Given the description of an element on the screen output the (x, y) to click on. 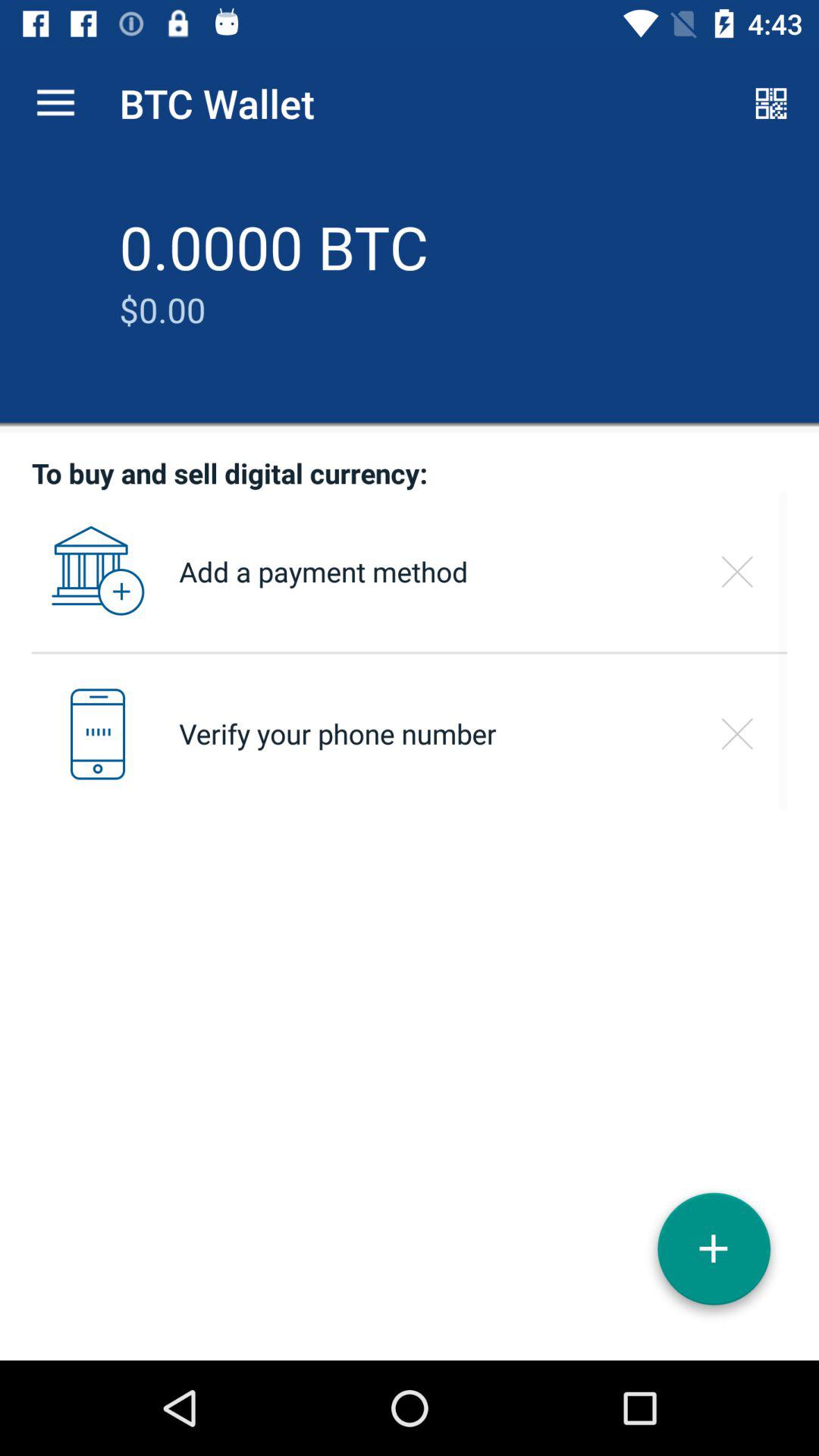
close the window (737, 571)
